Given the description of an element on the screen output the (x, y) to click on. 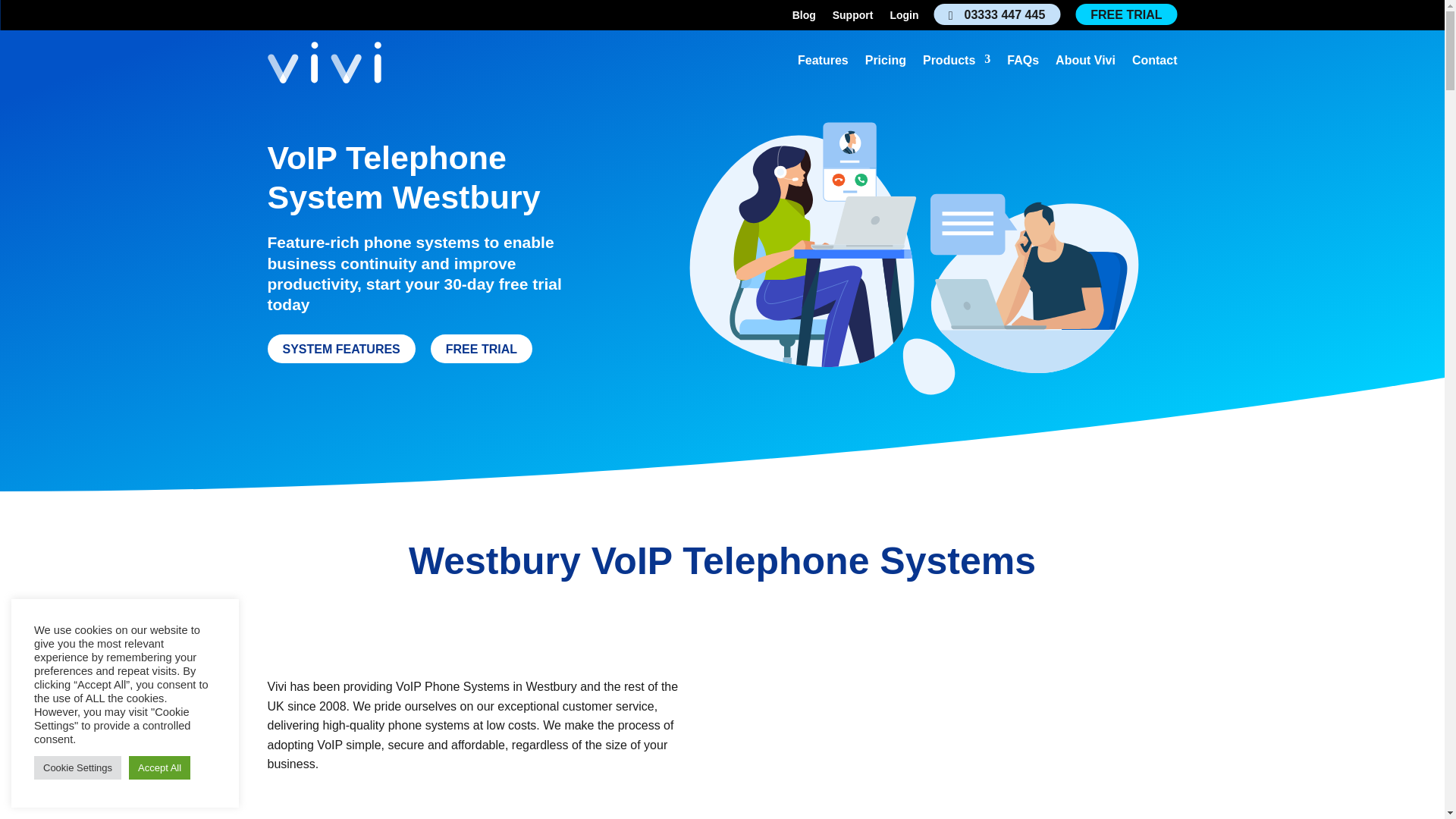
FREE TRIAL (1125, 14)
Contact (1154, 63)
Products (956, 63)
Features (822, 63)
03333 447 445 (997, 14)
Blog (803, 17)
About Vivi (1085, 63)
Support (852, 17)
Login (903, 17)
FAQs (1023, 63)
